Given the description of an element on the screen output the (x, y) to click on. 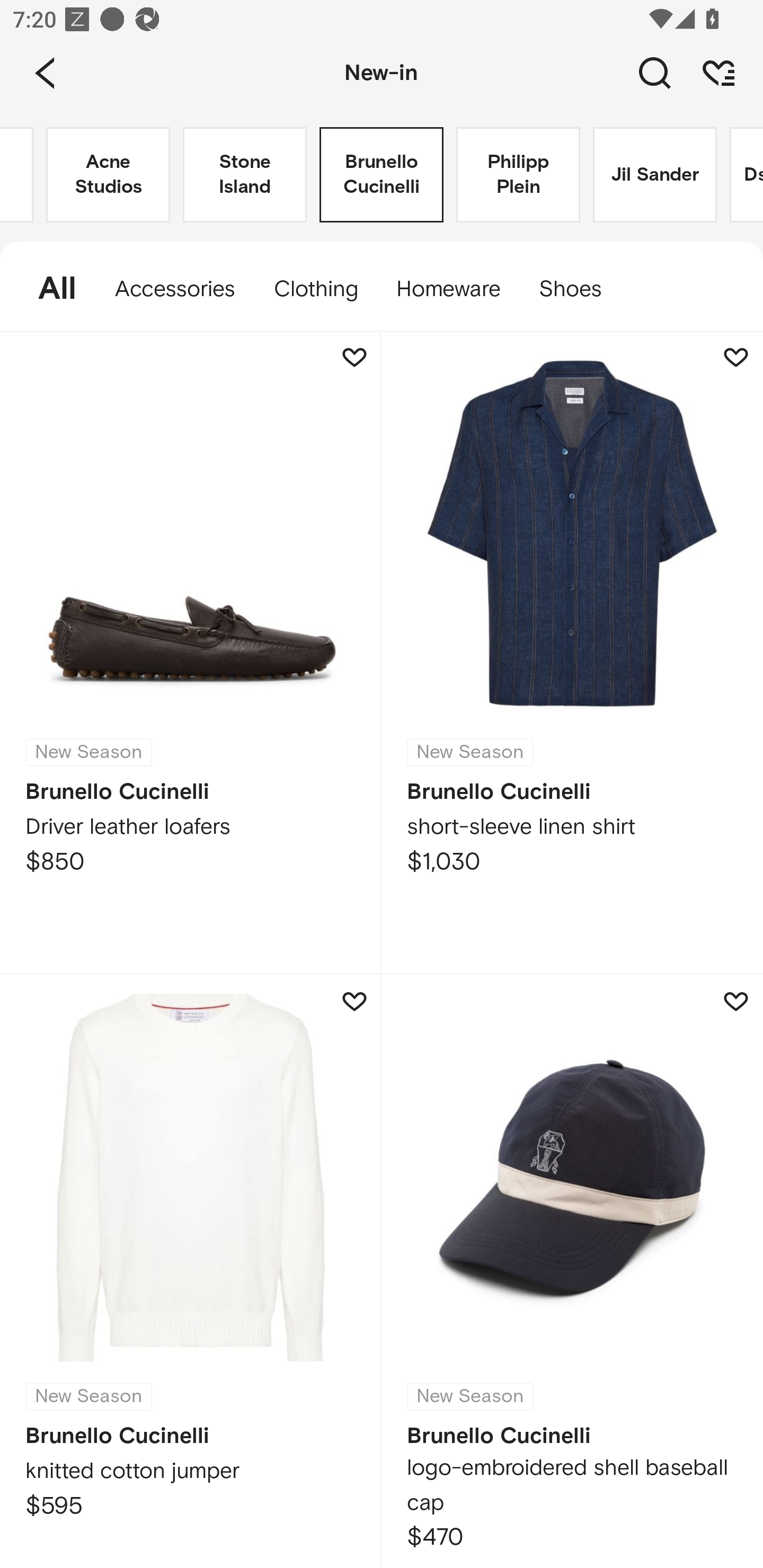
Acne Studios (107, 174)
Stone Island (244, 174)
Brunello Cucinelli (381, 174)
Philipp Plein (517, 174)
Jil Sander (654, 174)
All (47, 288)
Accessories (174, 288)
Clothing (315, 288)
Homeware (447, 288)
Shoes (579, 288)
